Given the description of an element on the screen output the (x, y) to click on. 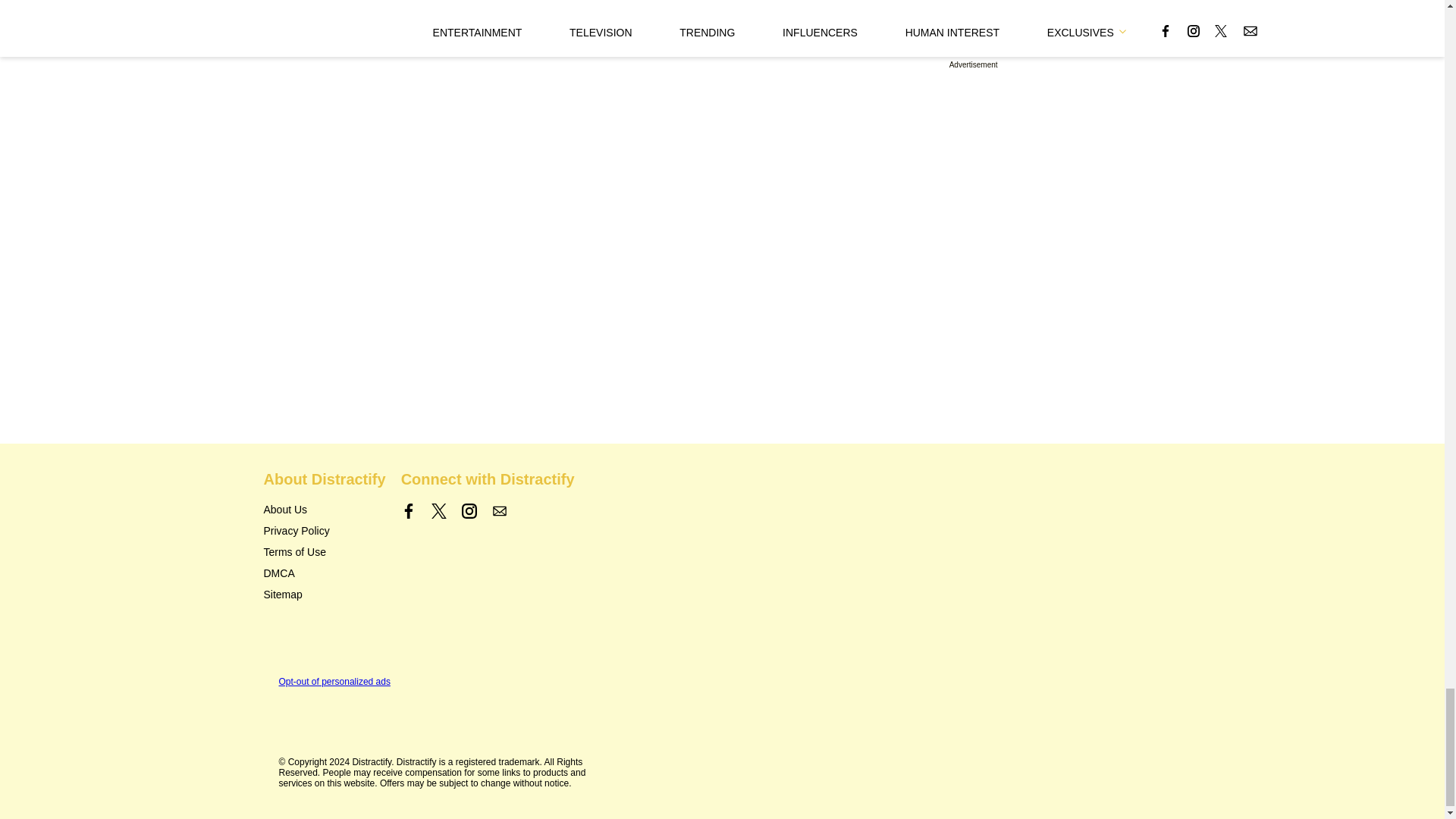
Link to Facebook (408, 510)
DMCA (279, 573)
Sitemap (282, 594)
Terms of Use (294, 551)
Contact us by Email (499, 510)
Link to X (438, 510)
DMCA (279, 573)
About Us (285, 509)
Link to Instagram (469, 510)
Privacy Policy (296, 530)
Terms of Use (294, 551)
About Us (285, 509)
Privacy Policy (296, 530)
